Given the description of an element on the screen output the (x, y) to click on. 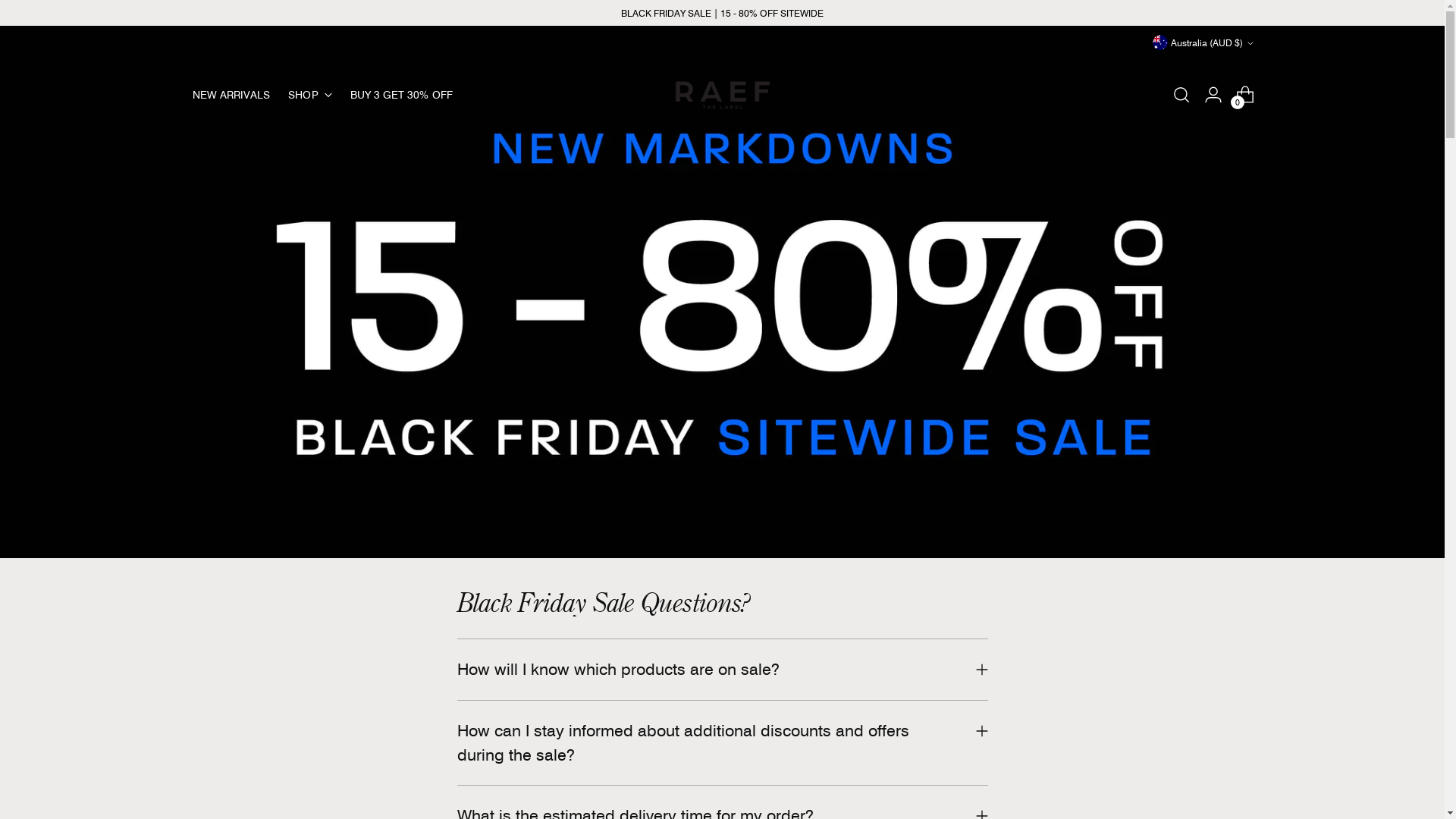
0 Element type: text (1245, 94)
Australia (AUD $) Element type: text (1202, 42)
SHOP Element type: text (309, 94)
BUY 3 GET 30% OFF Element type: text (401, 94)
How will I know which products are on sale? Element type: text (721, 669)
NEW ARRIVALS Element type: text (231, 94)
